Given the description of an element on the screen output the (x, y) to click on. 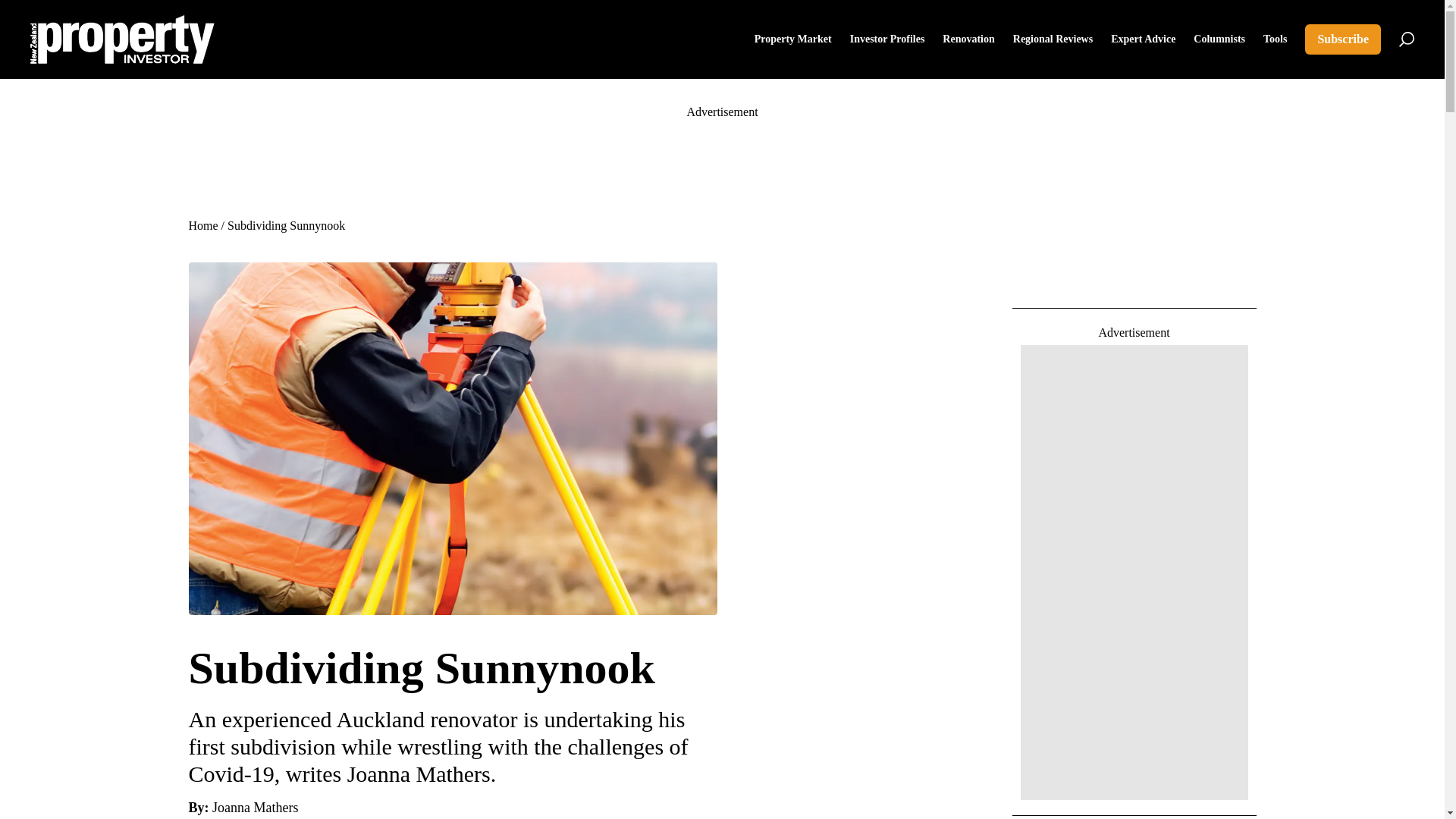
Property Market (792, 39)
Tools (1275, 39)
Subscribe (1342, 39)
Home (201, 225)
Investor Profiles (887, 39)
Renovation (968, 39)
Regional Reviews (1053, 39)
Expert Advice (1142, 39)
Columnists (1218, 39)
